Given the description of an element on the screen output the (x, y) to click on. 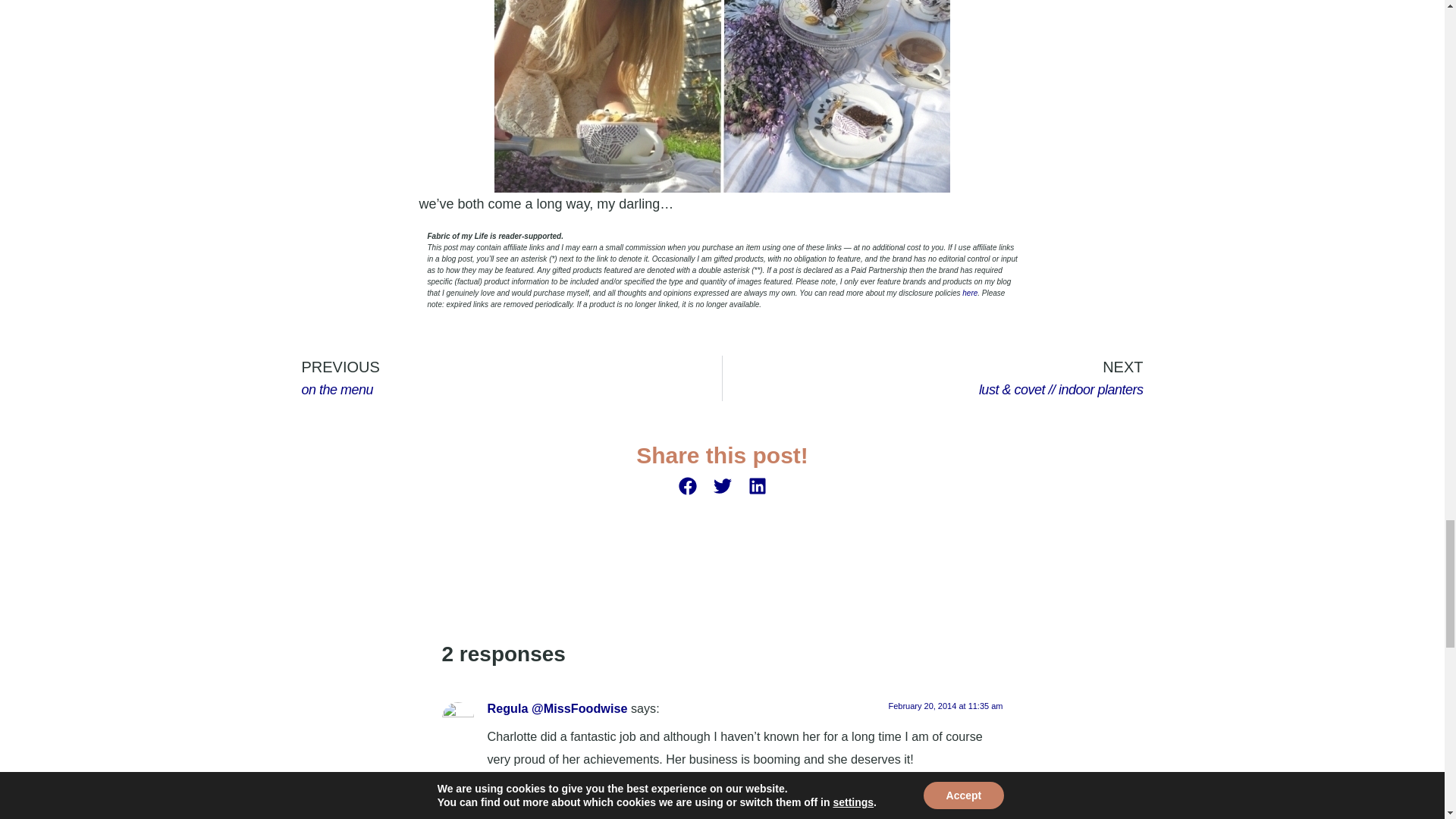
Reply (505, 378)
here (497, 773)
February 20, 2014 at 11:35 am (969, 293)
